Given the description of an element on the screen output the (x, y) to click on. 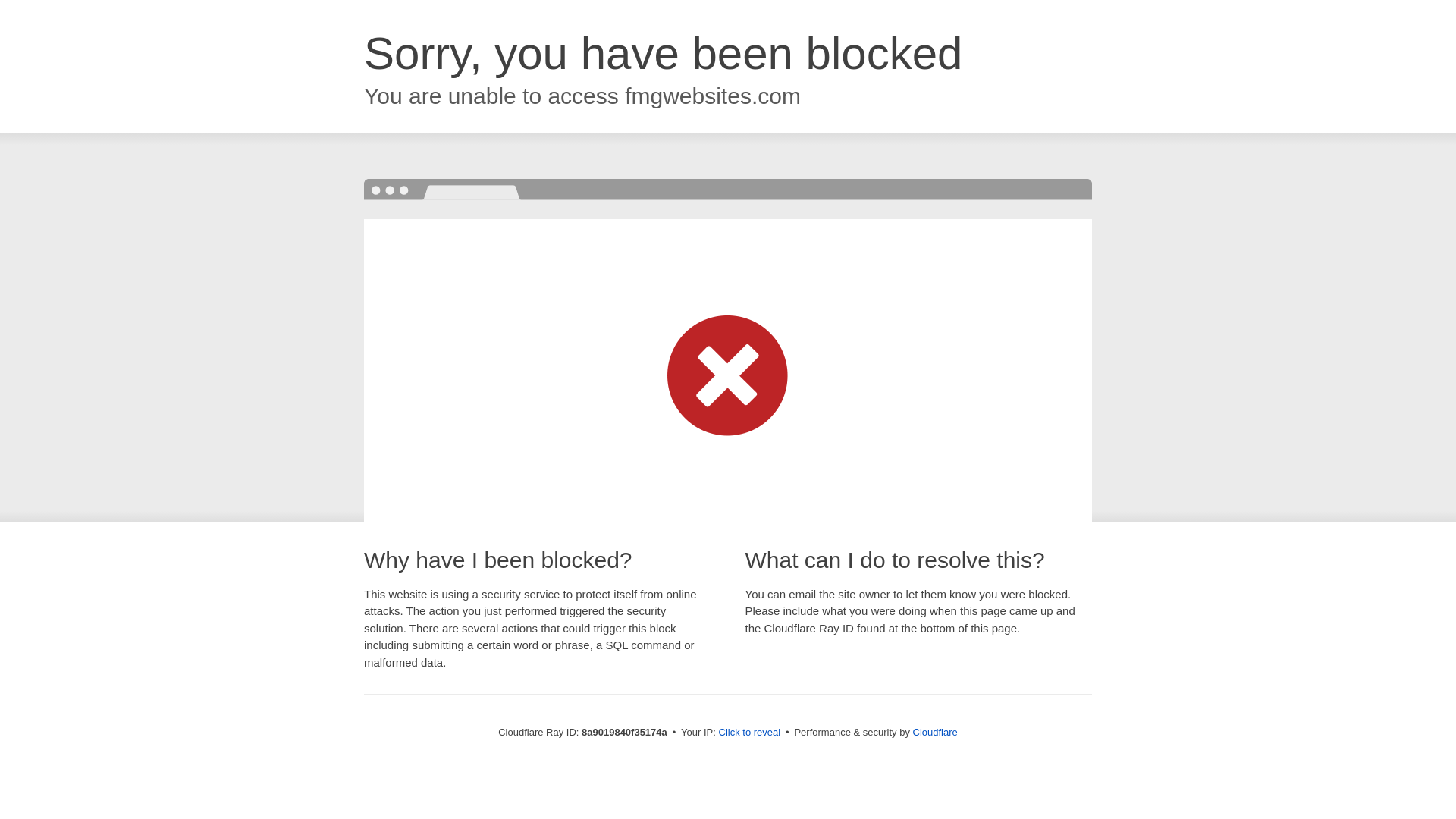
Click to reveal (749, 732)
Cloudflare (935, 731)
